Given the description of an element on the screen output the (x, y) to click on. 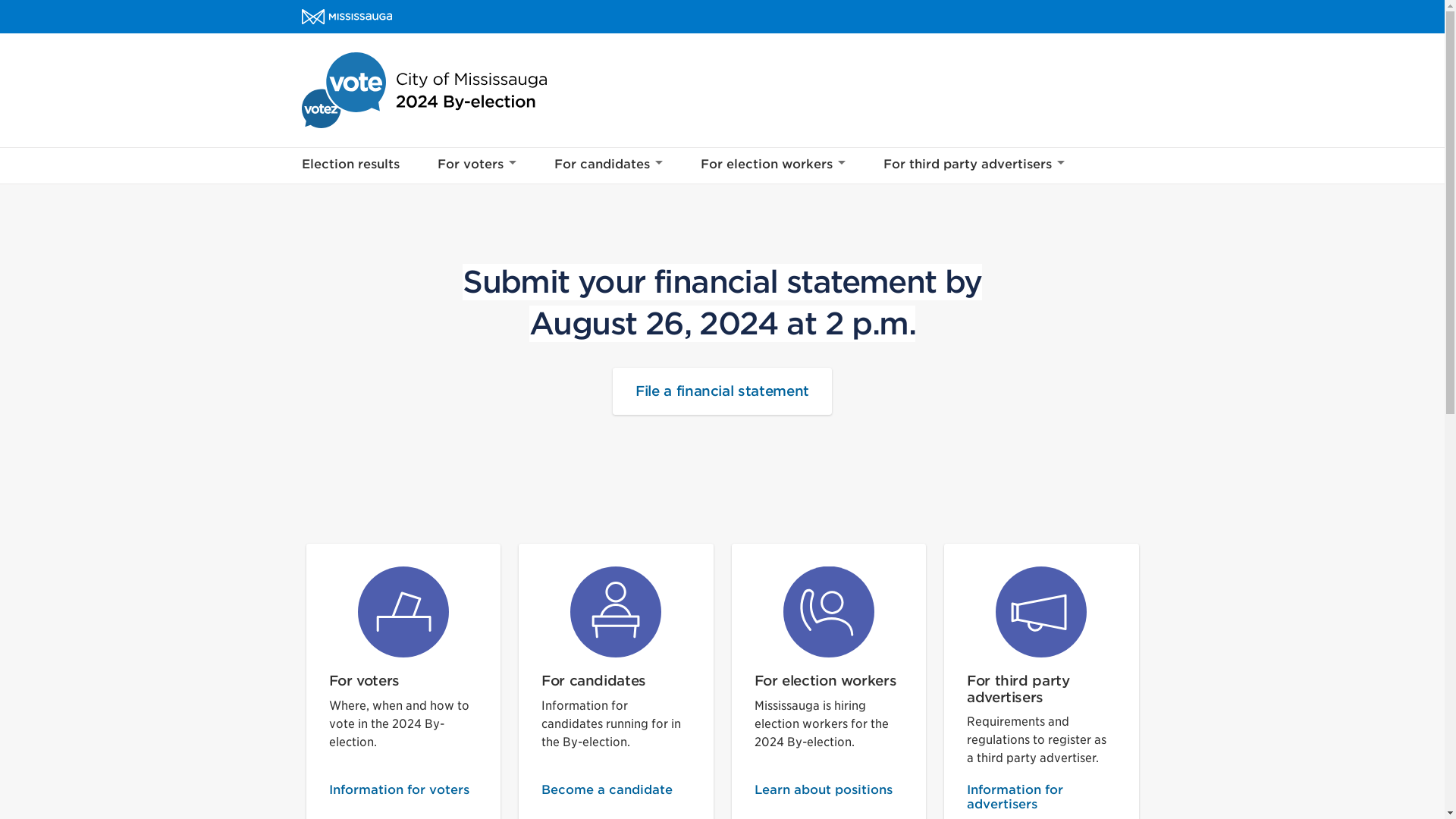
Information for advertisers (1041, 797)
Election results (349, 166)
Learn about positions (828, 797)
City of Mississauga Elections (346, 16)
File a financial statement (721, 390)
Become a candidate (615, 797)
Mississauga votes Homepage (424, 89)
For voters (477, 166)
For candidates (608, 166)
Mississauga votes Homepage (424, 89)
Information for voters (404, 797)
